Given the description of an element on the screen output the (x, y) to click on. 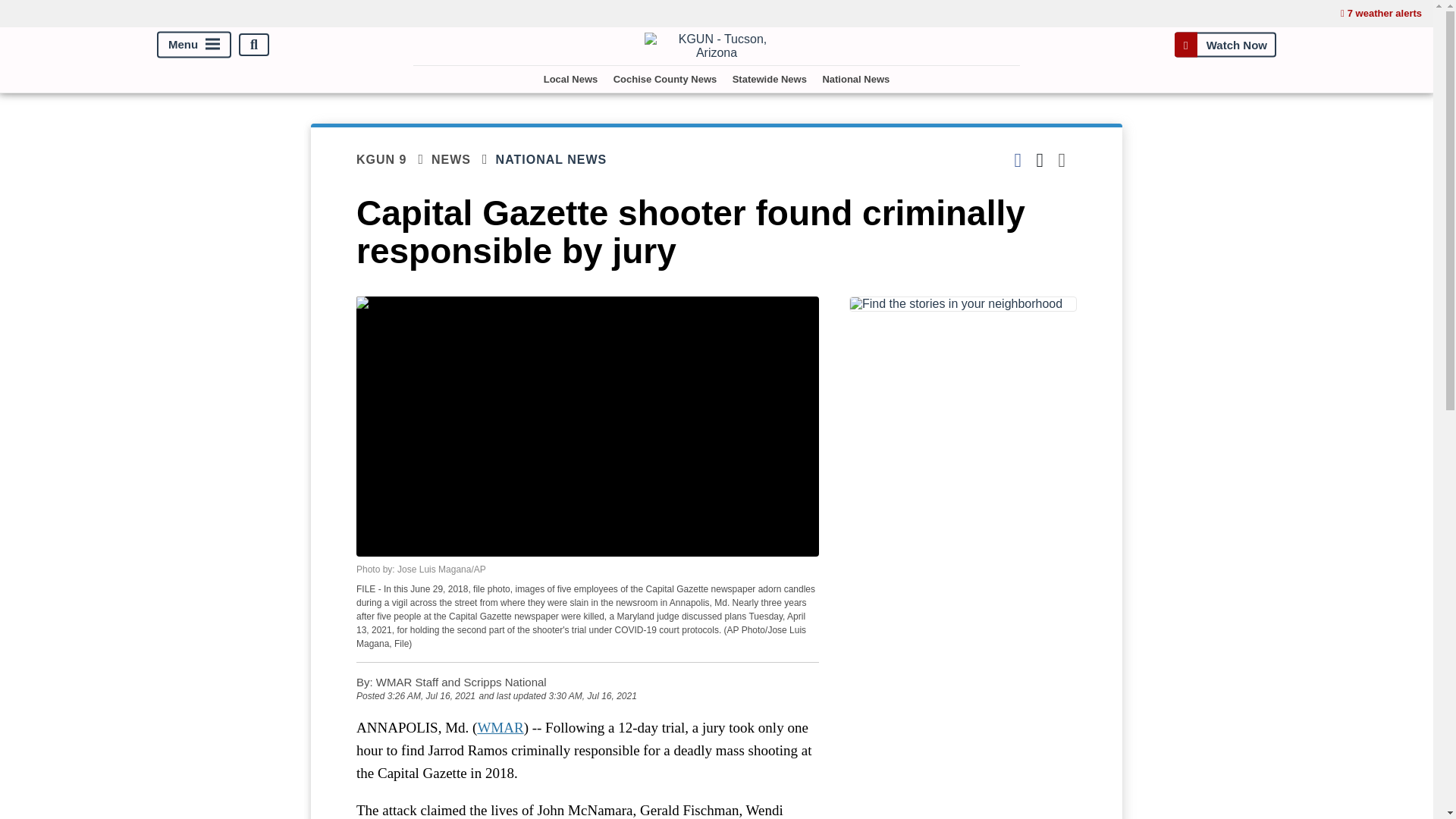
Watch Now (1224, 43)
Menu (194, 44)
